Given the description of an element on the screen output the (x, y) to click on. 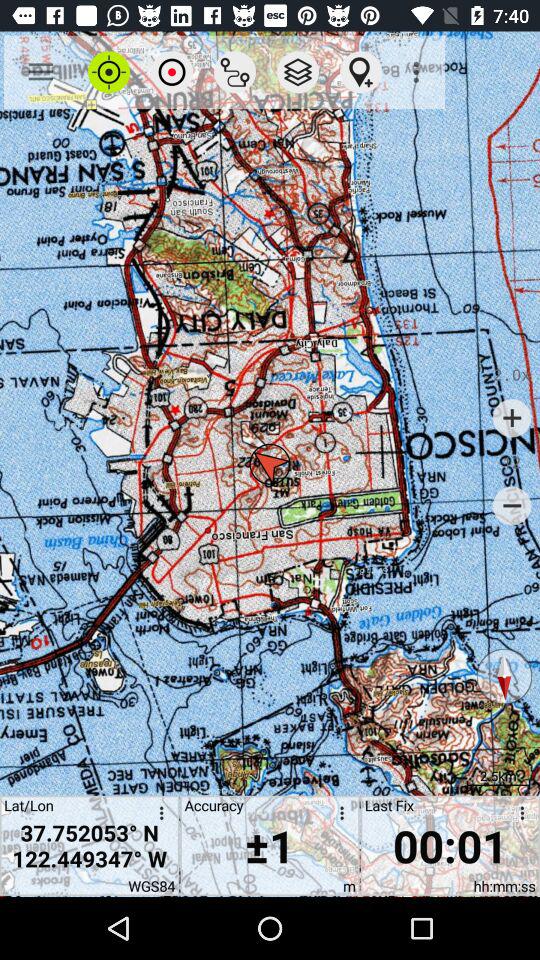
open accuracy menu options (338, 816)
